Given the description of an element on the screen output the (x, y) to click on. 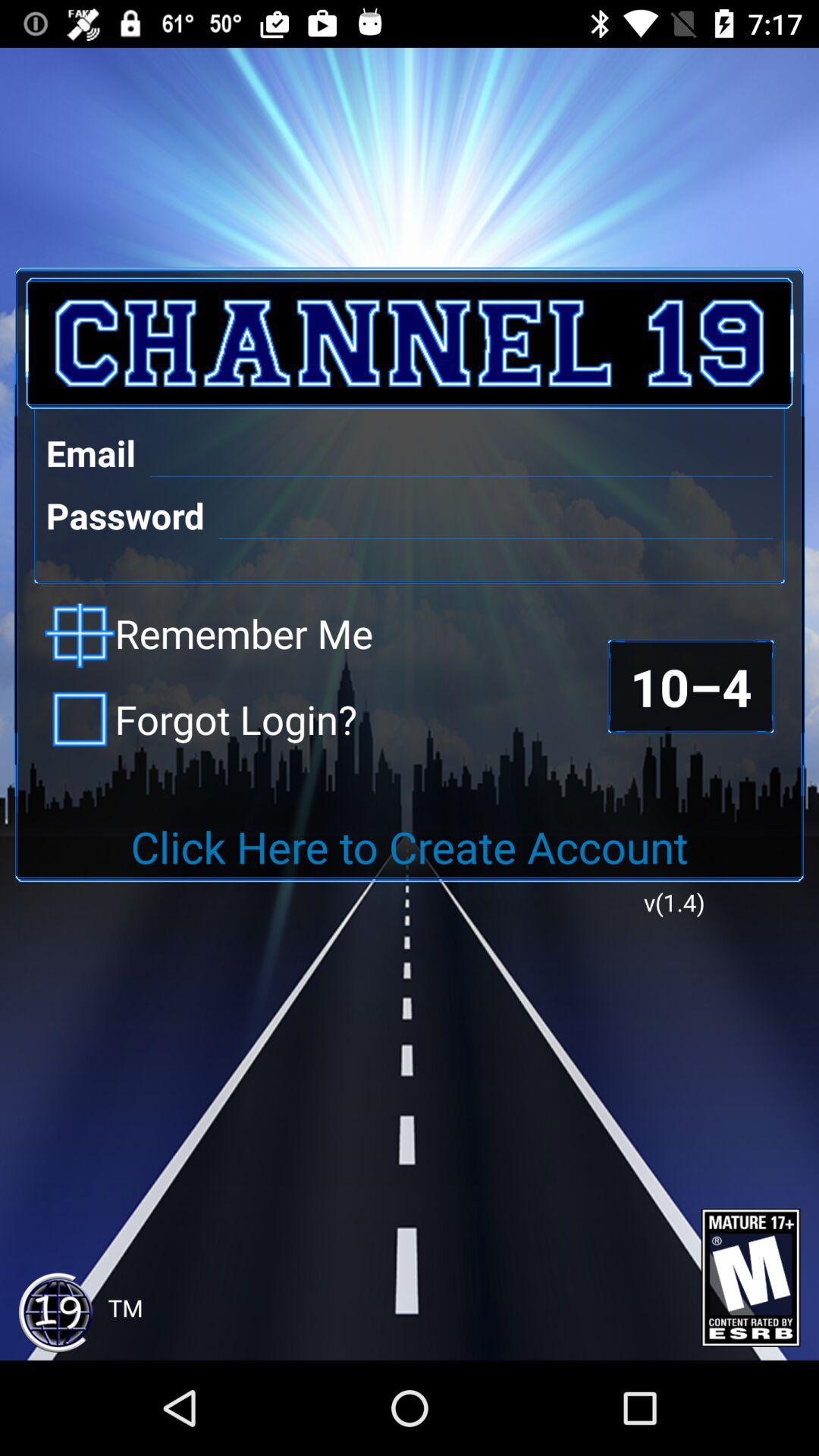
open the forgot login? icon (200, 719)
